Given the description of an element on the screen output the (x, y) to click on. 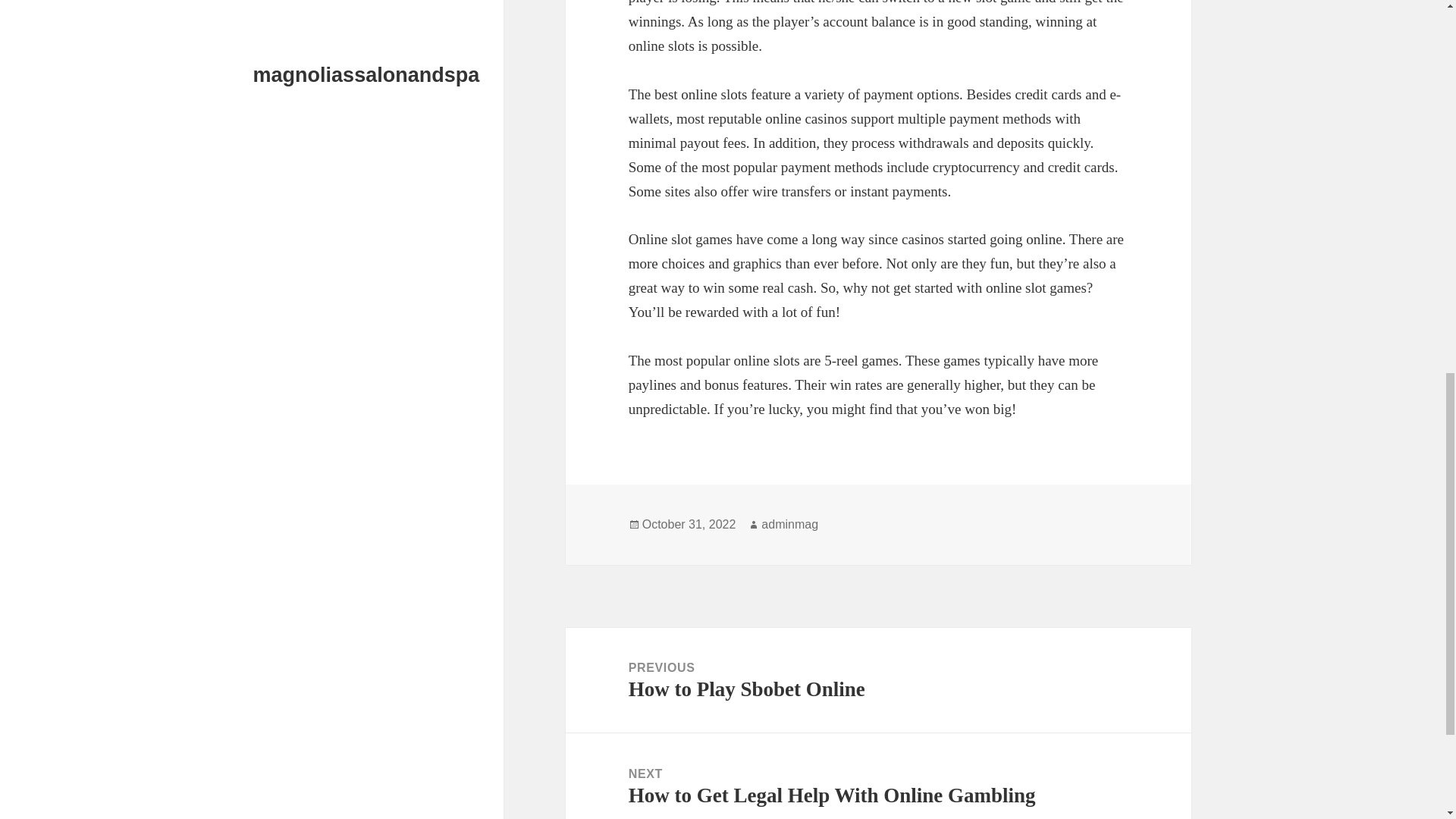
October 31, 2022 (878, 680)
adminmag (689, 524)
